Given the description of an element on the screen output the (x, y) to click on. 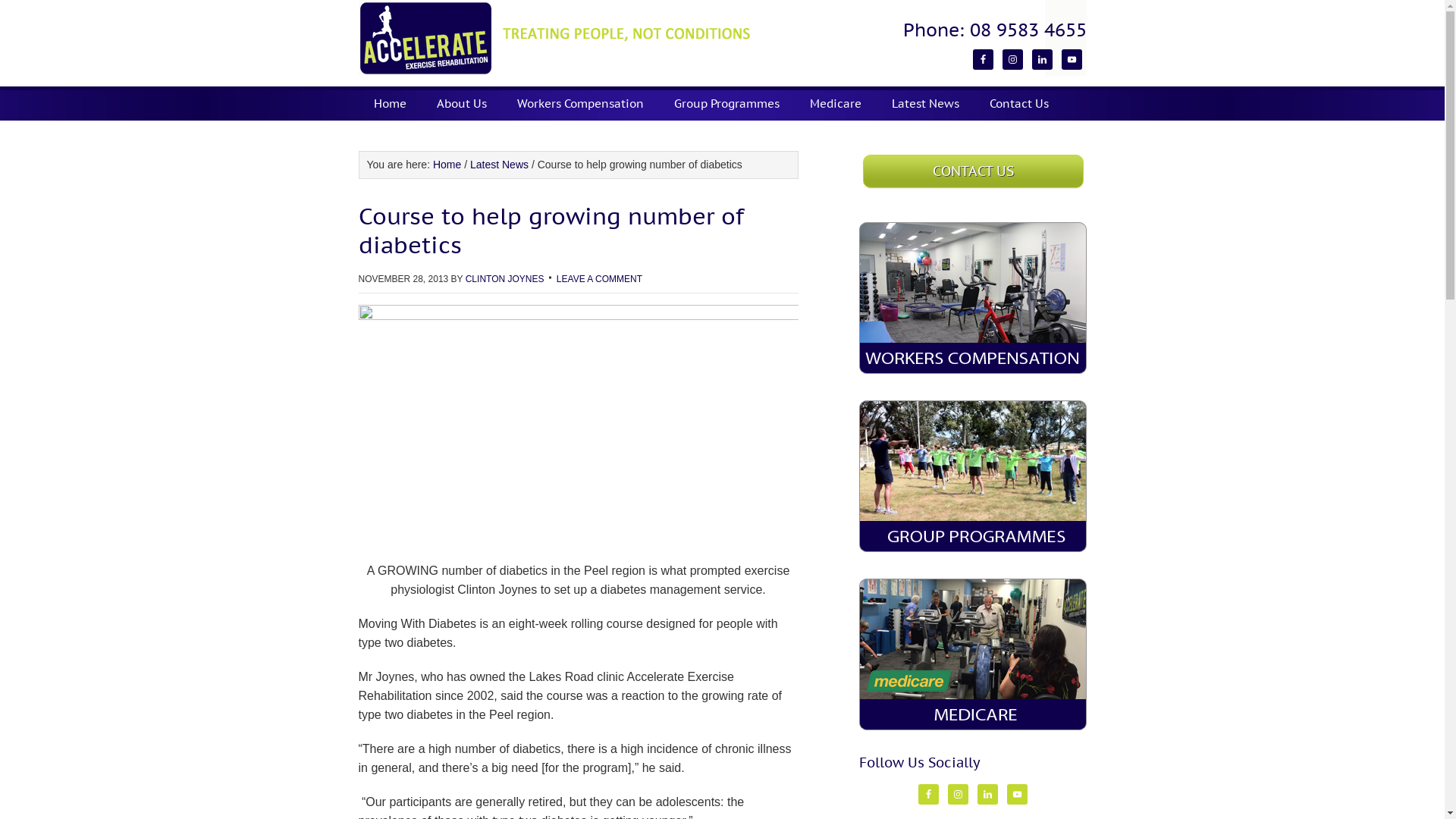
Home Element type: text (447, 164)
About Us Element type: text (461, 103)
LEAVE A COMMENT Element type: text (599, 278)
Contact Us Element type: text (1018, 103)
Medicare Element type: text (835, 103)
CONTACT US Element type: text (972, 171)
CLINTON JOYNES Element type: text (504, 278)
Workers Compensation - do you have a work related injury? Element type: hover (971, 297)
Group Programmes Element type: text (725, 103)
Latest News Element type: text (499, 164)
Medicare Element type: hover (971, 654)
Latest News Element type: text (925, 103)
Workers Compensation Element type: text (580, 103)
Home Element type: text (388, 103)
Group Programmes Element type: hover (971, 476)
